Given the description of an element on the screen output the (x, y) to click on. 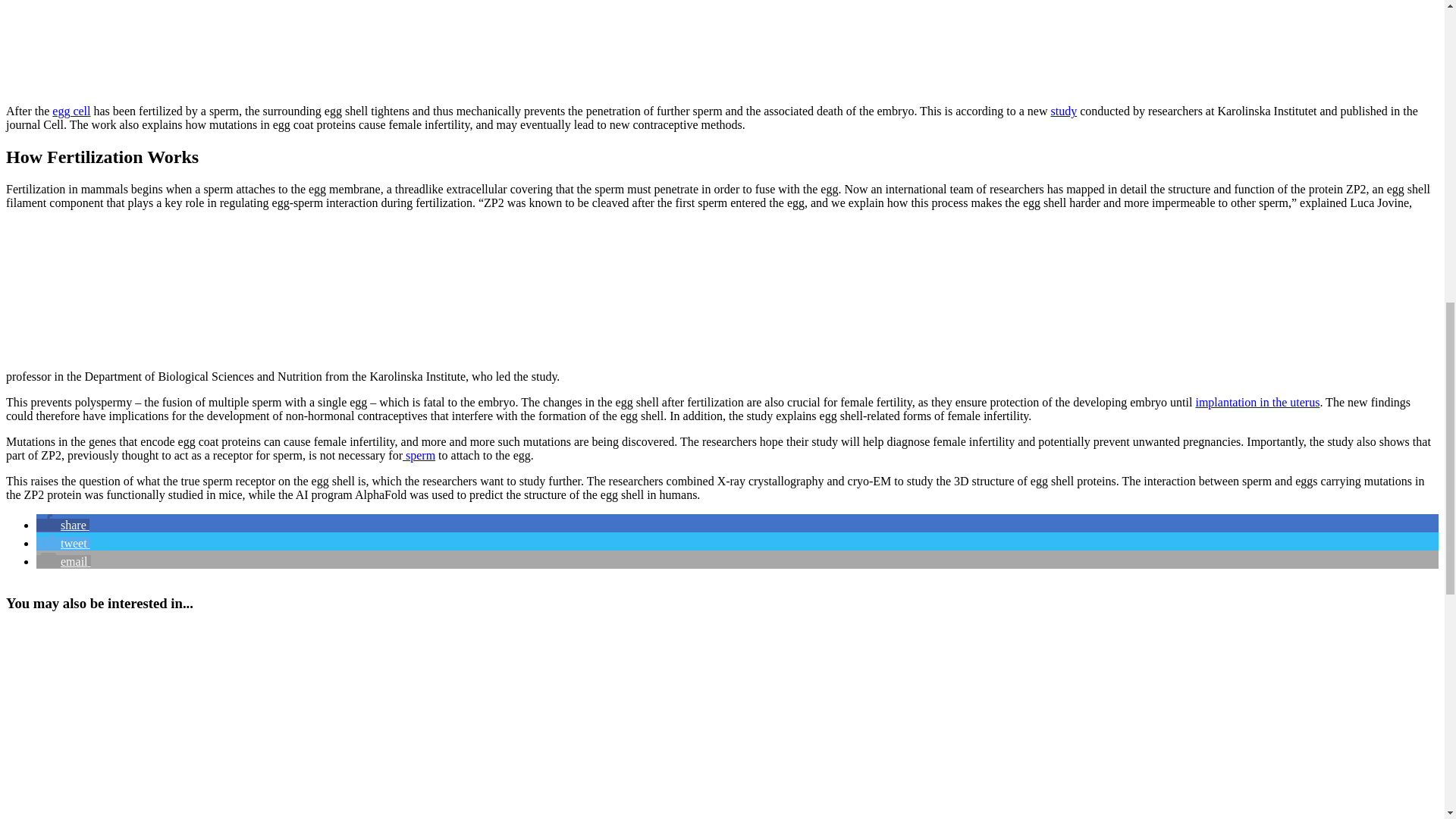
email  (63, 561)
tweet  (63, 543)
implantation in the uterus (1257, 401)
Share on Facebook (62, 524)
sperm (419, 454)
Send by email (63, 561)
Share on Twitter (63, 543)
share  (62, 524)
egg cell (71, 110)
study (1064, 110)
